Given the description of an element on the screen output the (x, y) to click on. 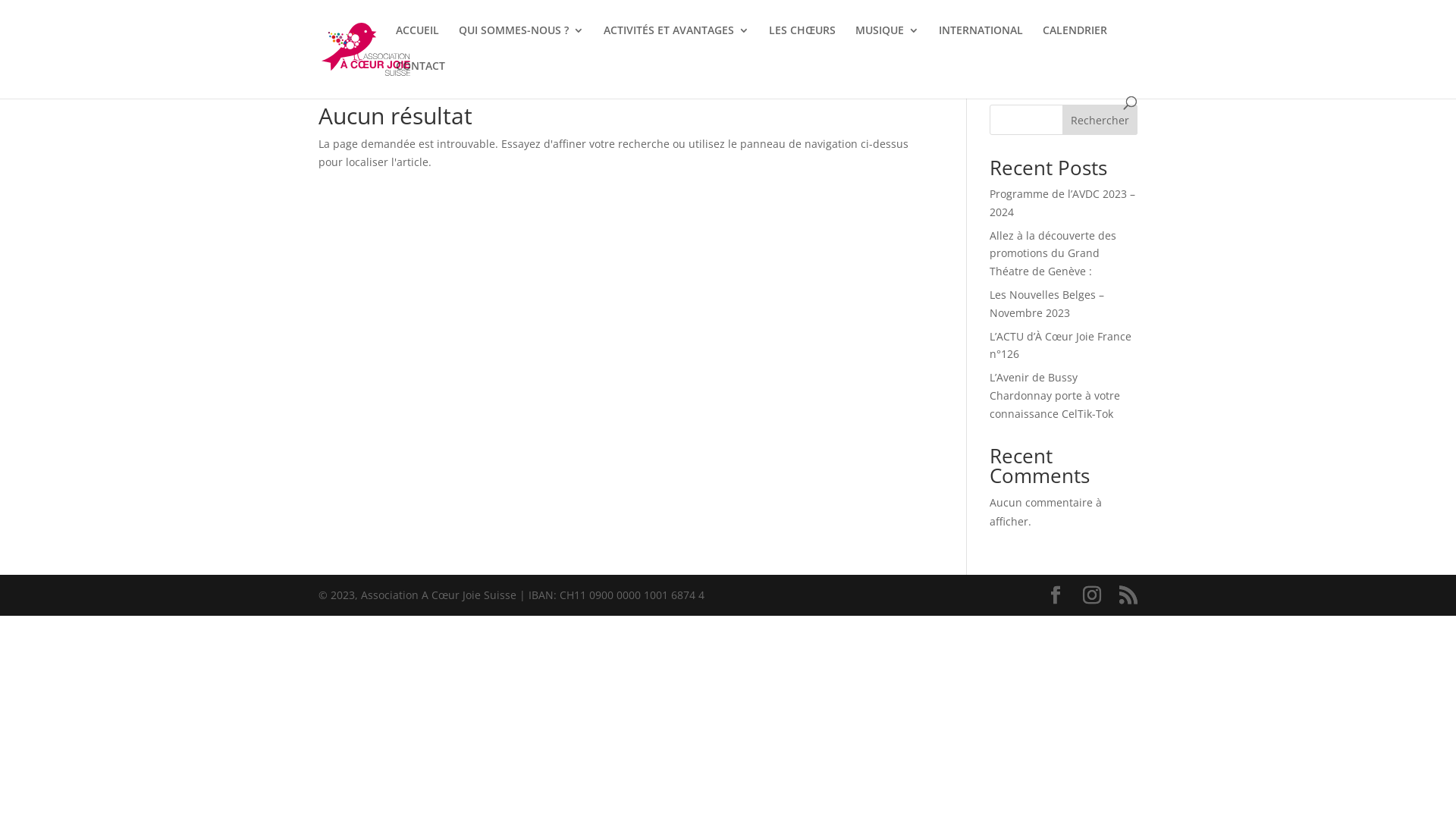
QUI SOMMES-NOUS ? Element type: text (520, 42)
ACCUEIL Element type: text (417, 42)
MUSIQUE Element type: text (887, 42)
INTERNATIONAL Element type: text (980, 42)
CONTACT Element type: text (420, 78)
Rechercher Element type: text (1099, 119)
CALENDRIER Element type: text (1074, 42)
